Given the description of an element on the screen output the (x, y) to click on. 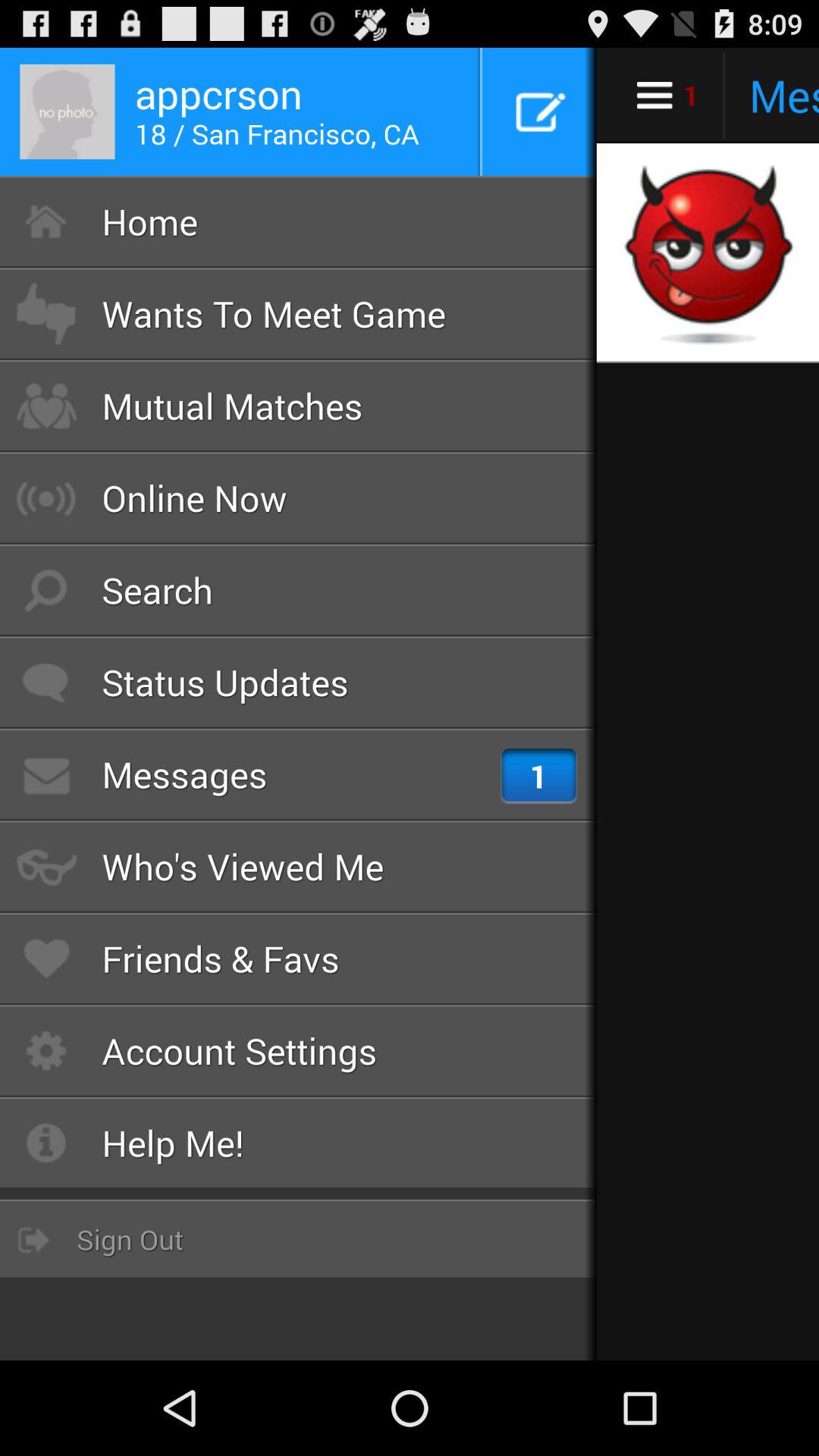
select the options button and messaging (708, 95)
